Given the description of an element on the screen output the (x, y) to click on. 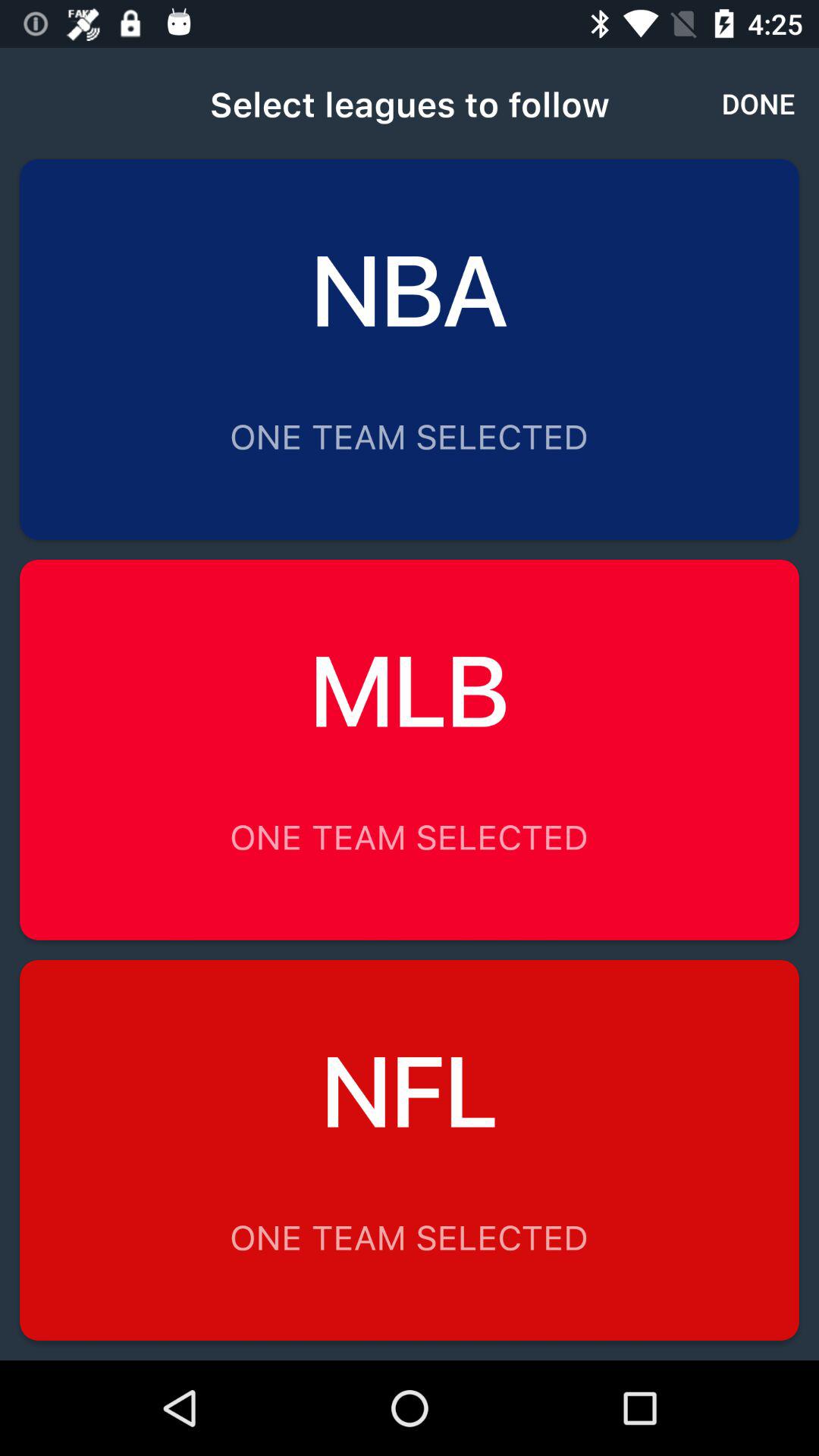
choose the icon next to select leagues to (758, 103)
